Given the description of an element on the screen output the (x, y) to click on. 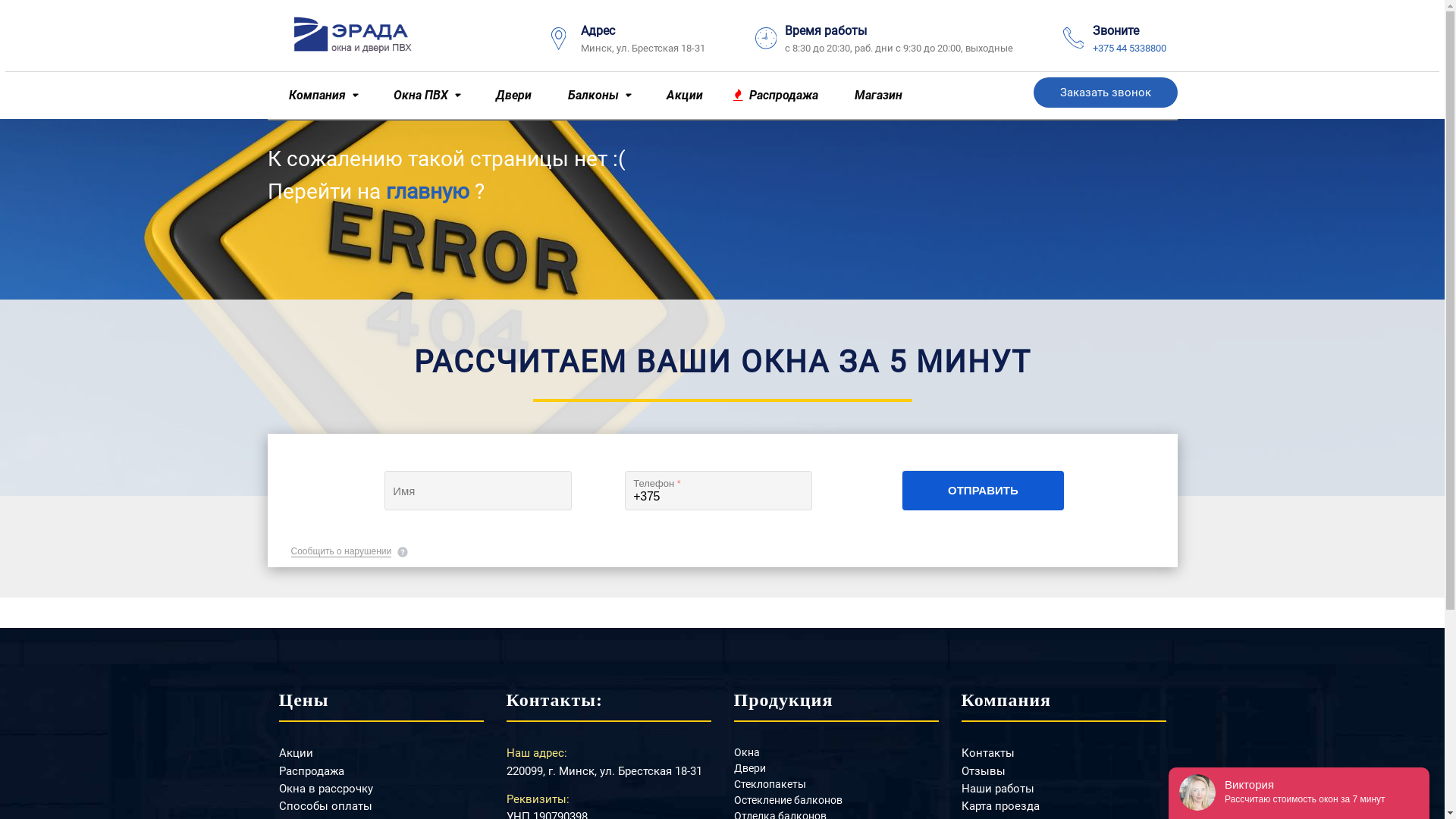
+375 44 5338800 Element type: text (1128, 47)
